Given the description of an element on the screen output the (x, y) to click on. 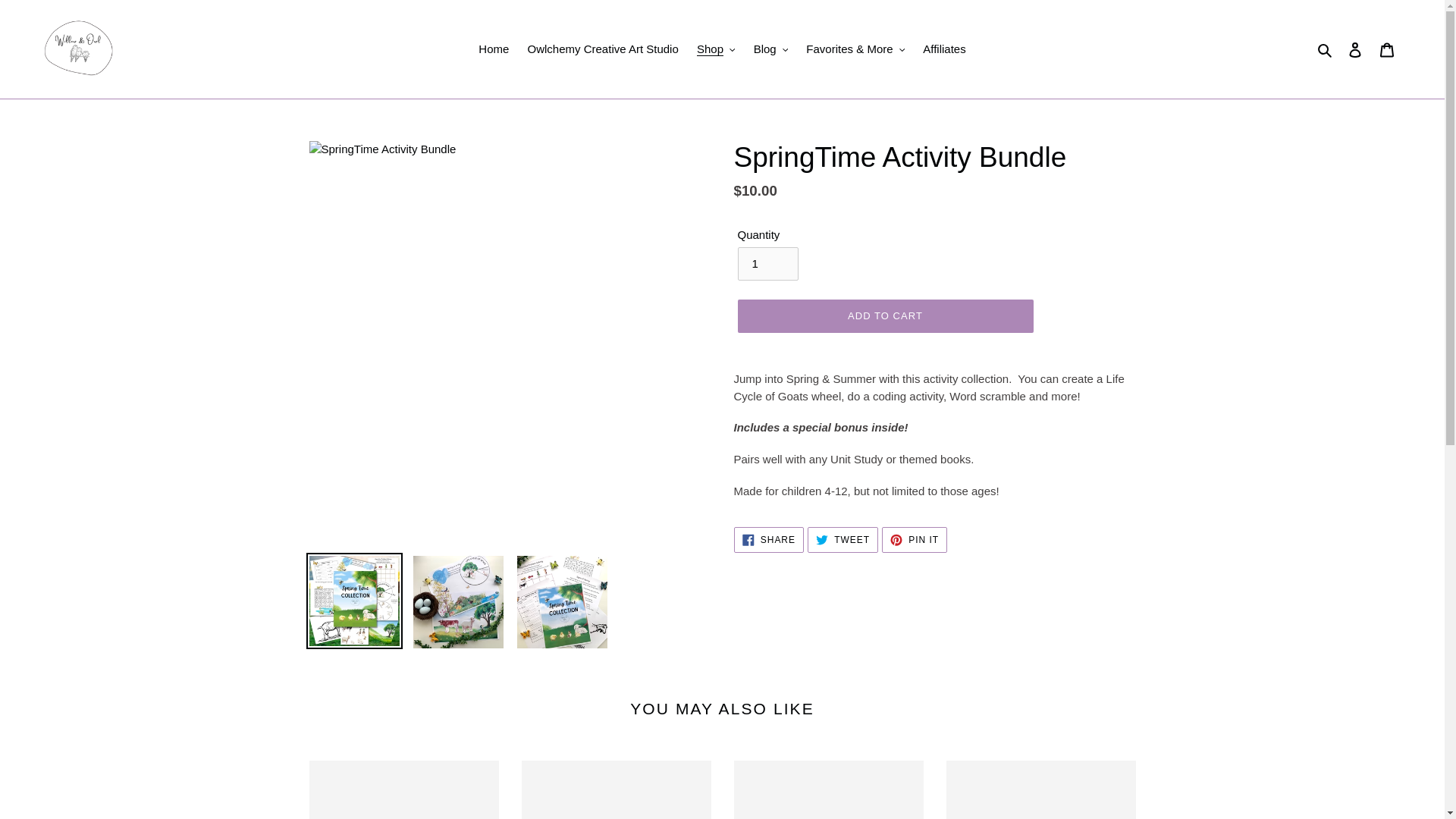
Affiliates (943, 49)
Home (493, 49)
1 (766, 263)
Shop (715, 49)
Owlchemy Creative Art Studio (602, 49)
Cart (1387, 49)
Blog (770, 49)
Search (1326, 49)
Log in (1355, 49)
